Given the description of an element on the screen output the (x, y) to click on. 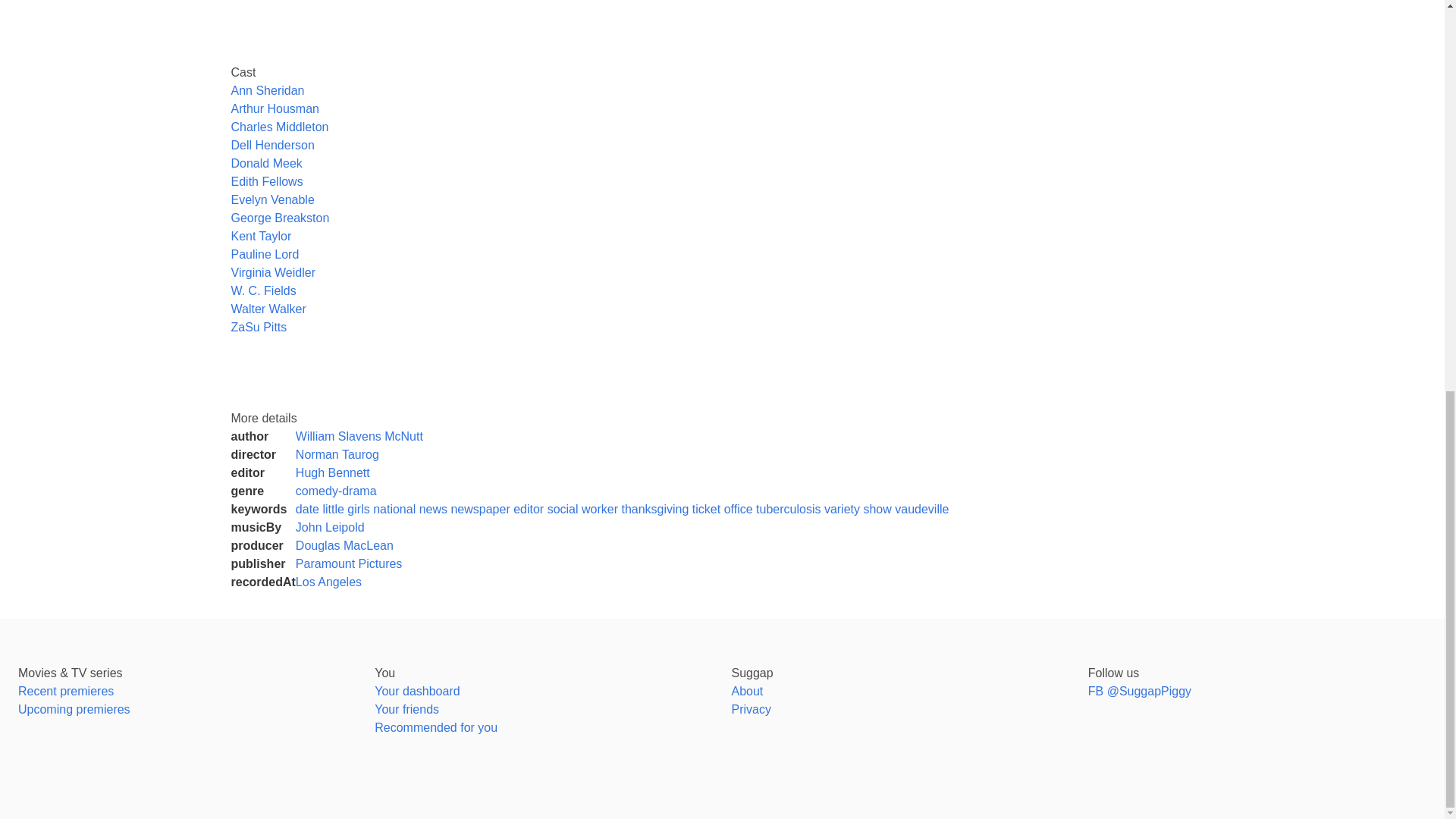
newspaper editor (496, 508)
Walter Walker (267, 308)
Edith Fellows (266, 181)
national news (409, 508)
William Slavens McNutt (359, 436)
Pauline Lord (264, 254)
Hugh Bennett (332, 472)
little girls (345, 508)
George Breakston (279, 217)
Kent Taylor (260, 236)
